Given the description of an element on the screen output the (x, y) to click on. 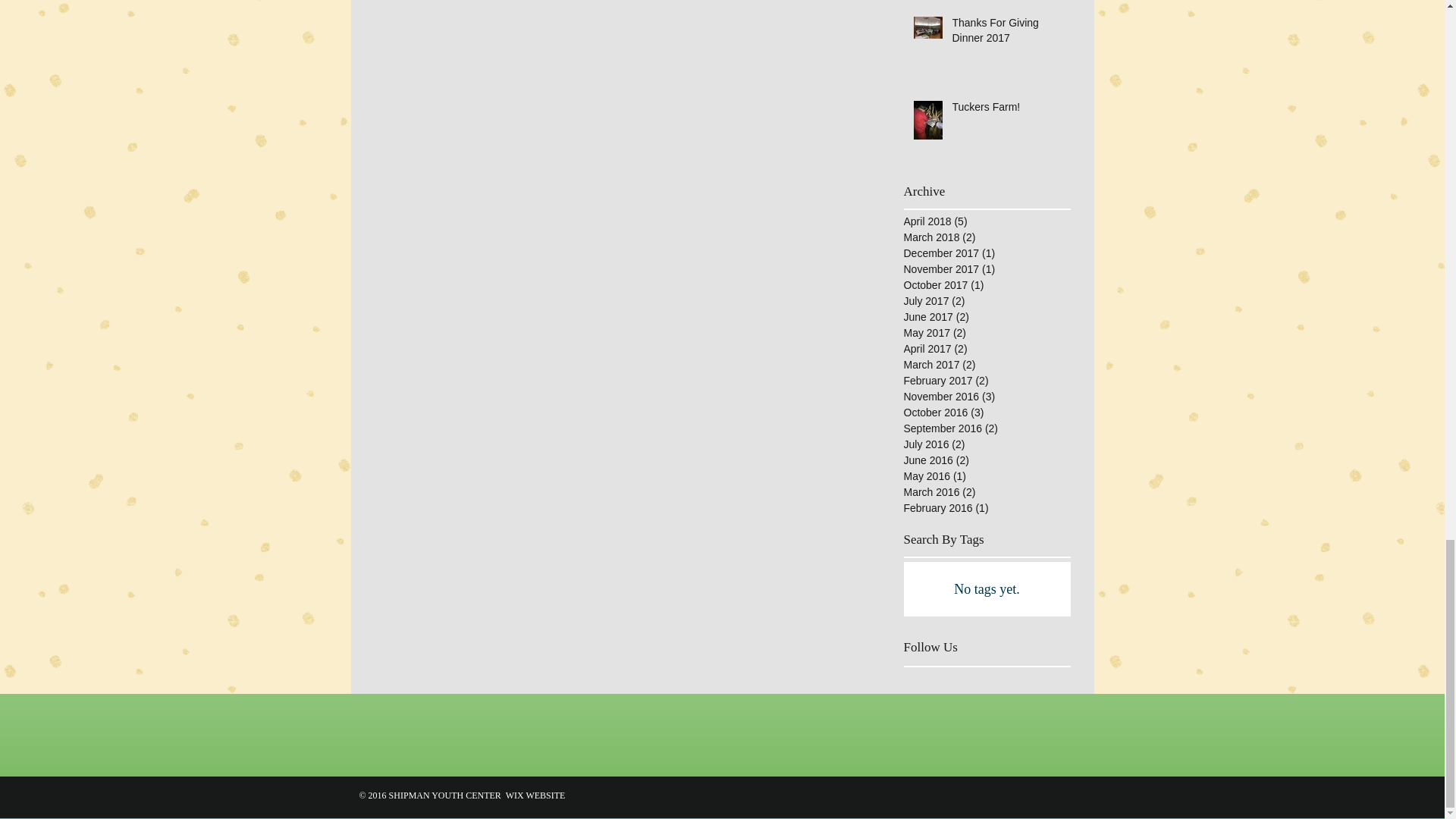
Thanks For Giving Dinner 2017 (1006, 33)
Tuckers Farm! (1006, 110)
